Given the description of an element on the screen output the (x, y) to click on. 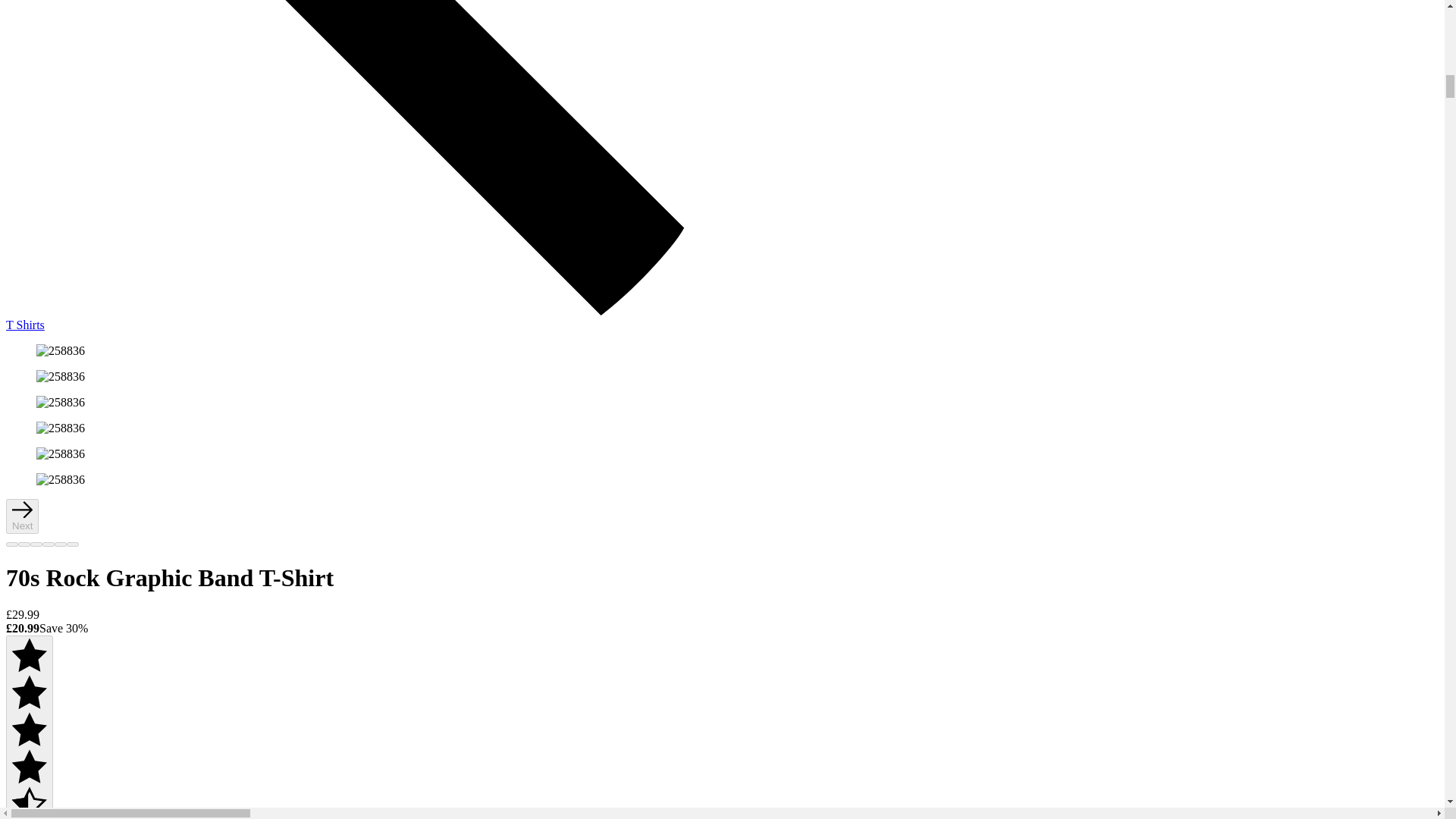
Next (22, 516)
Star (28, 815)
Star (28, 743)
Star (28, 668)
T Shirts (721, 317)
Next (22, 516)
ArrowRight (21, 514)
Star (28, 780)
Star (28, 706)
